Given the description of an element on the screen output the (x, y) to click on. 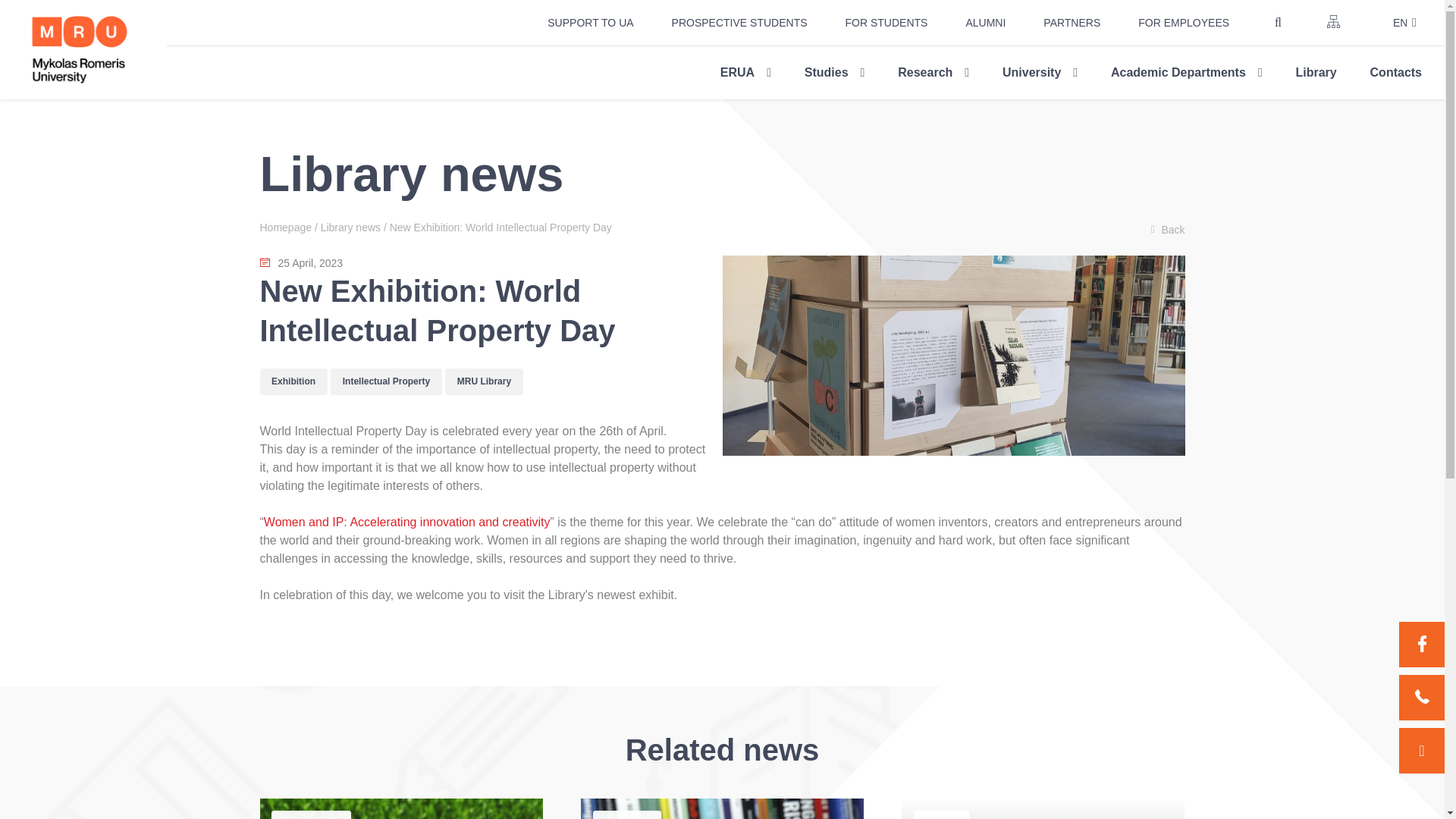
En (1396, 22)
SUPPORT TO UA (590, 22)
PROSPECTIVE STUDENTS (739, 22)
ERUA (745, 72)
ALUMNI (985, 22)
PARTNERS (1072, 22)
FOR EMPLOYEES (1183, 22)
FOR STUDENTS (887, 22)
